Given the description of an element on the screen output the (x, y) to click on. 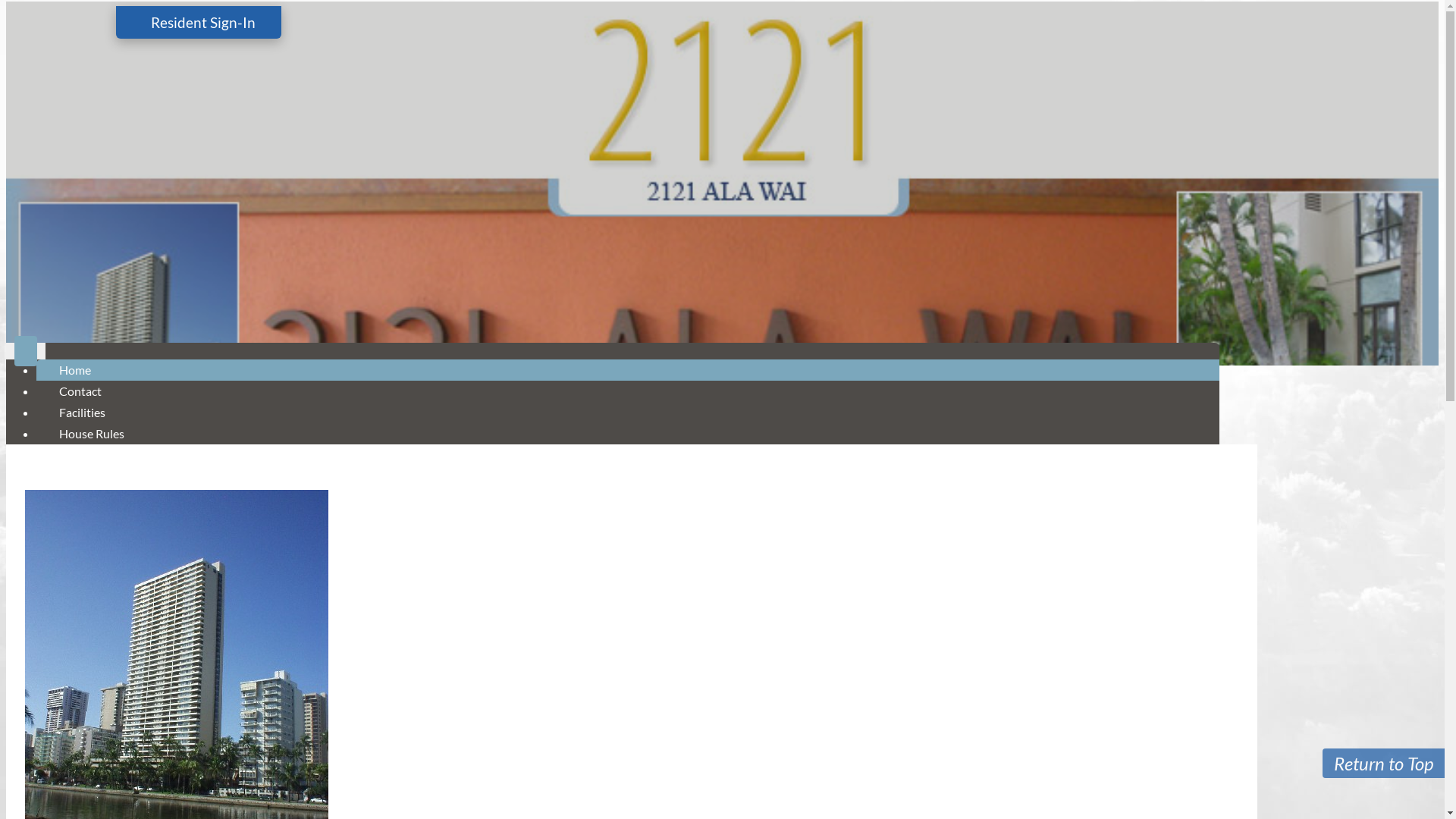
Resident Sign-In Element type: text (197, 22)
Resident Sign-In Element type: text (197, 22)
Home Element type: text (74, 369)
Contact Element type: text (80, 390)
House Rules Element type: text (91, 432)
Facilities Element type: text (82, 411)
